Given the description of an element on the screen output the (x, y) to click on. 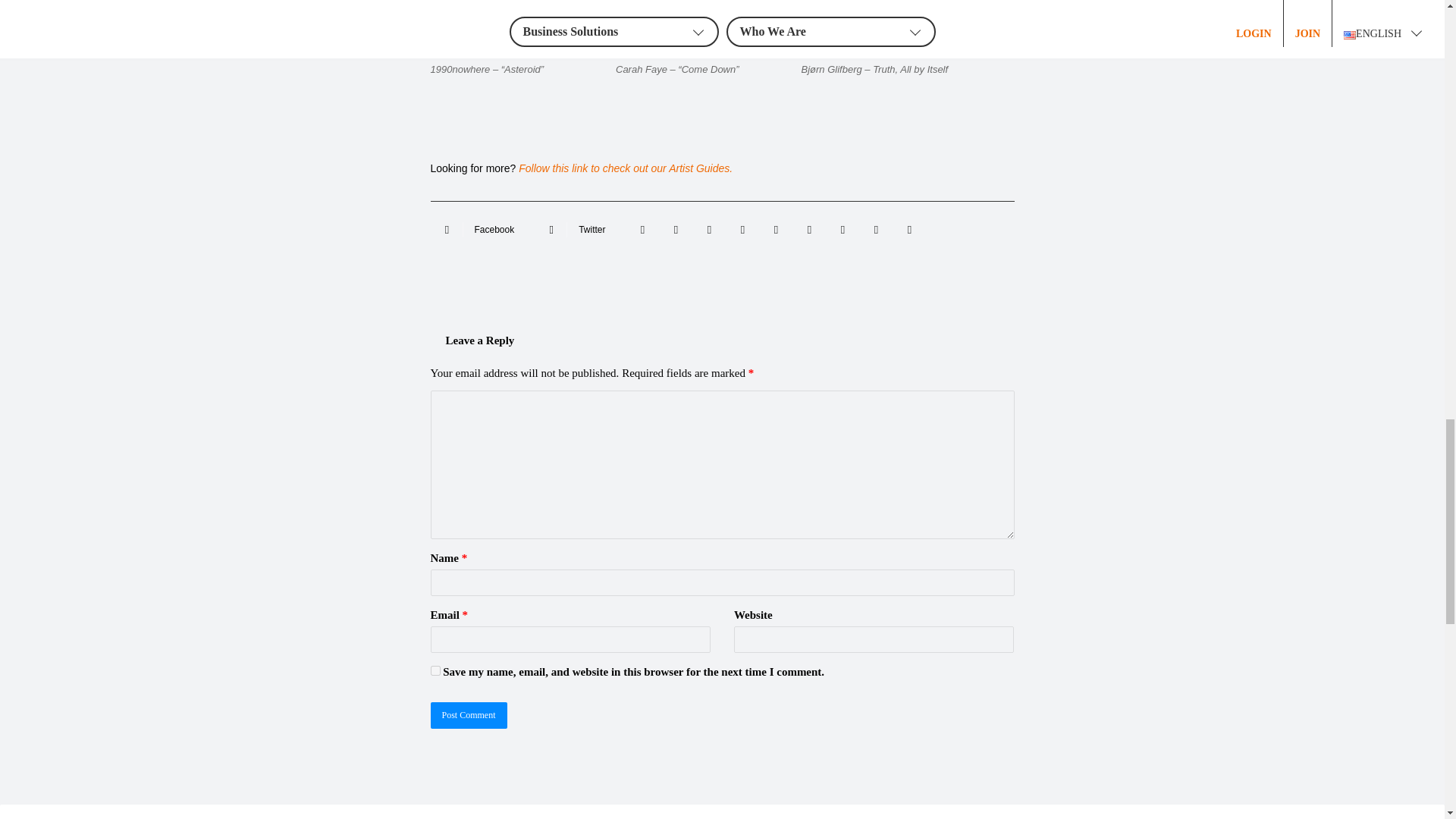
Post Comment (468, 714)
yes (435, 670)
